Given the description of an element on the screen output the (x, y) to click on. 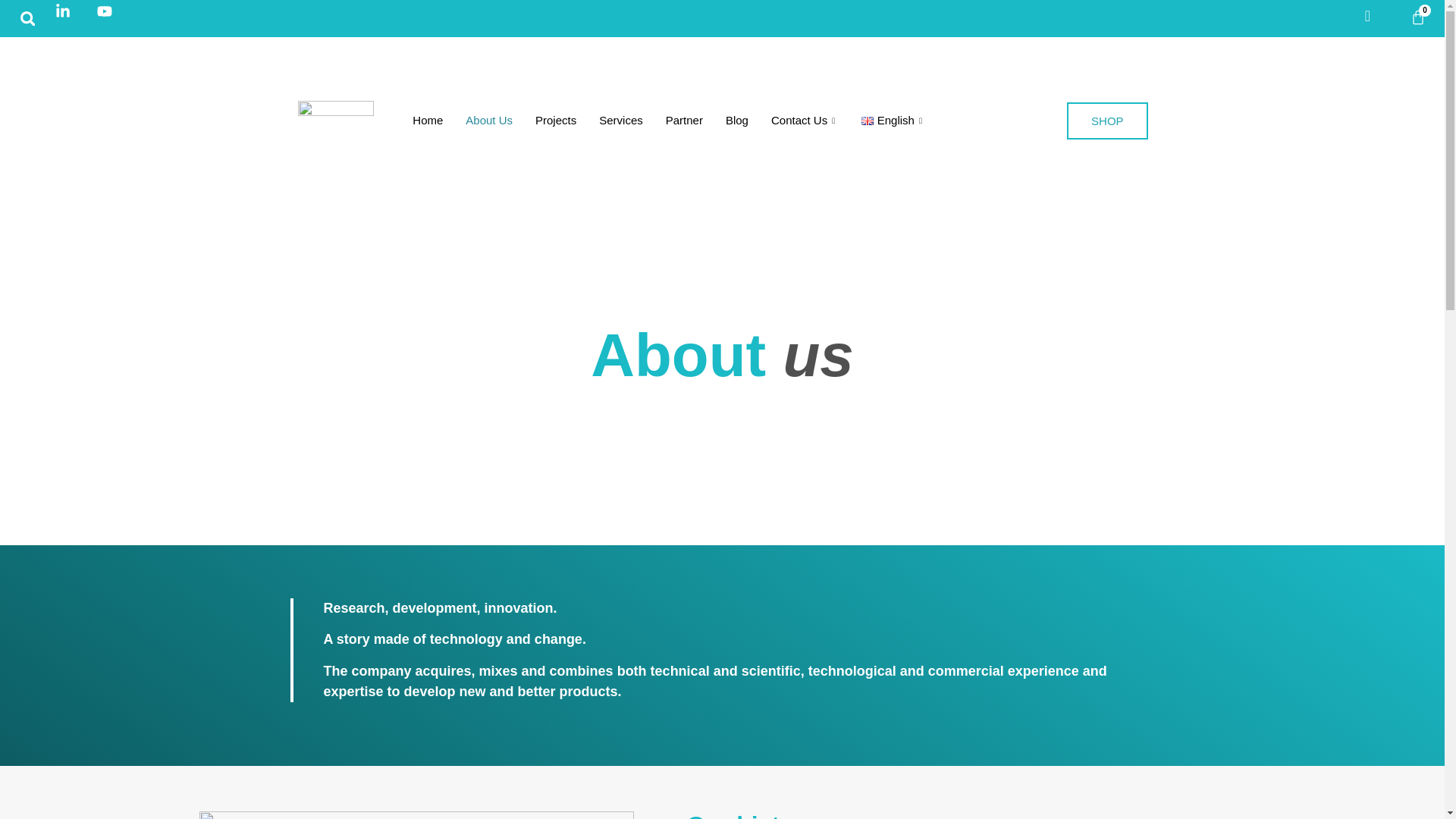
Services (620, 120)
English (893, 120)
Projects (556, 120)
Contact Us (805, 120)
Partner (683, 120)
About Us (489, 120)
SHOP (1107, 119)
